Given the description of an element on the screen output the (x, y) to click on. 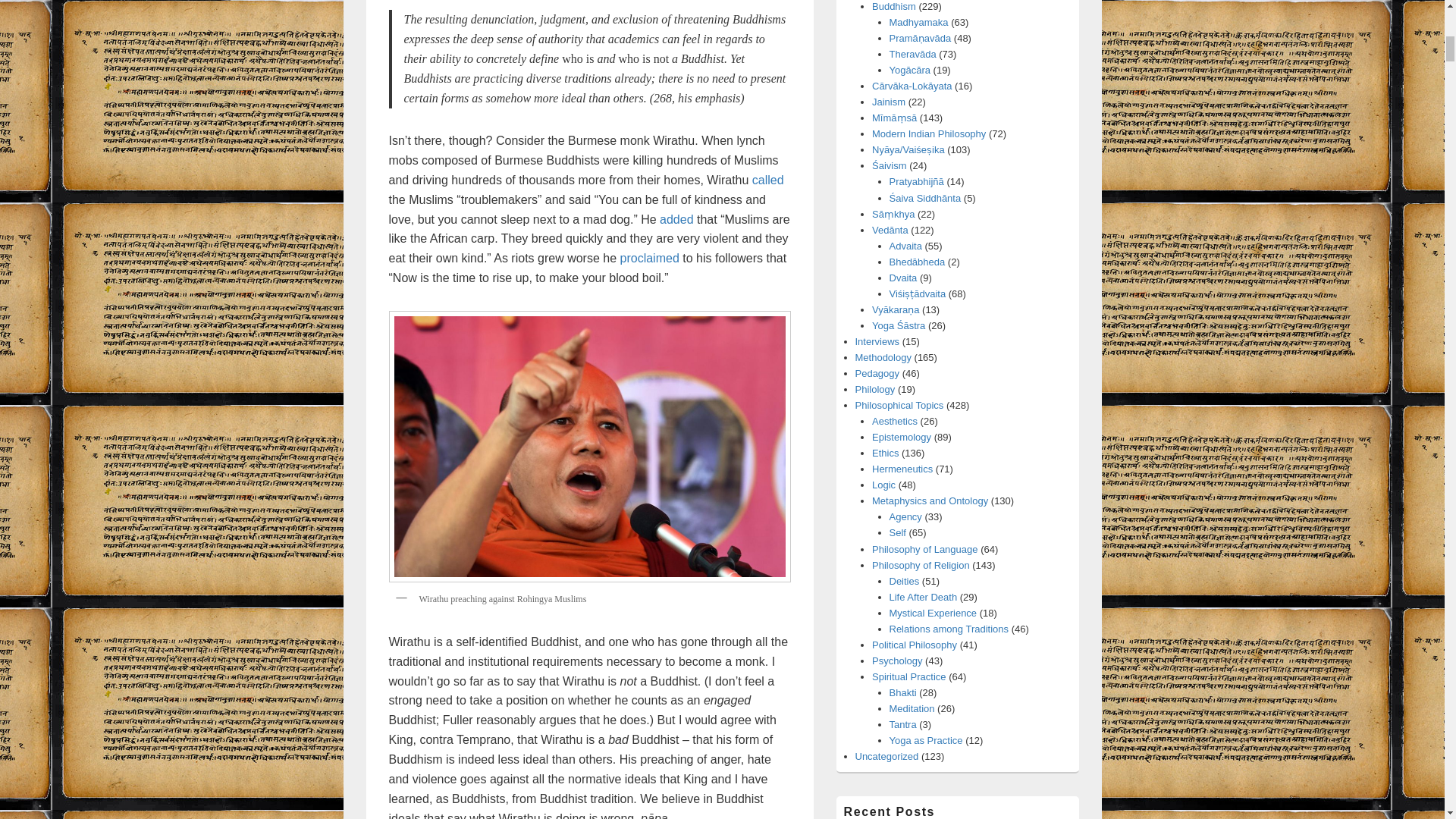
called (768, 179)
added (676, 219)
proclaimed (649, 257)
